Given the description of an element on the screen output the (x, y) to click on. 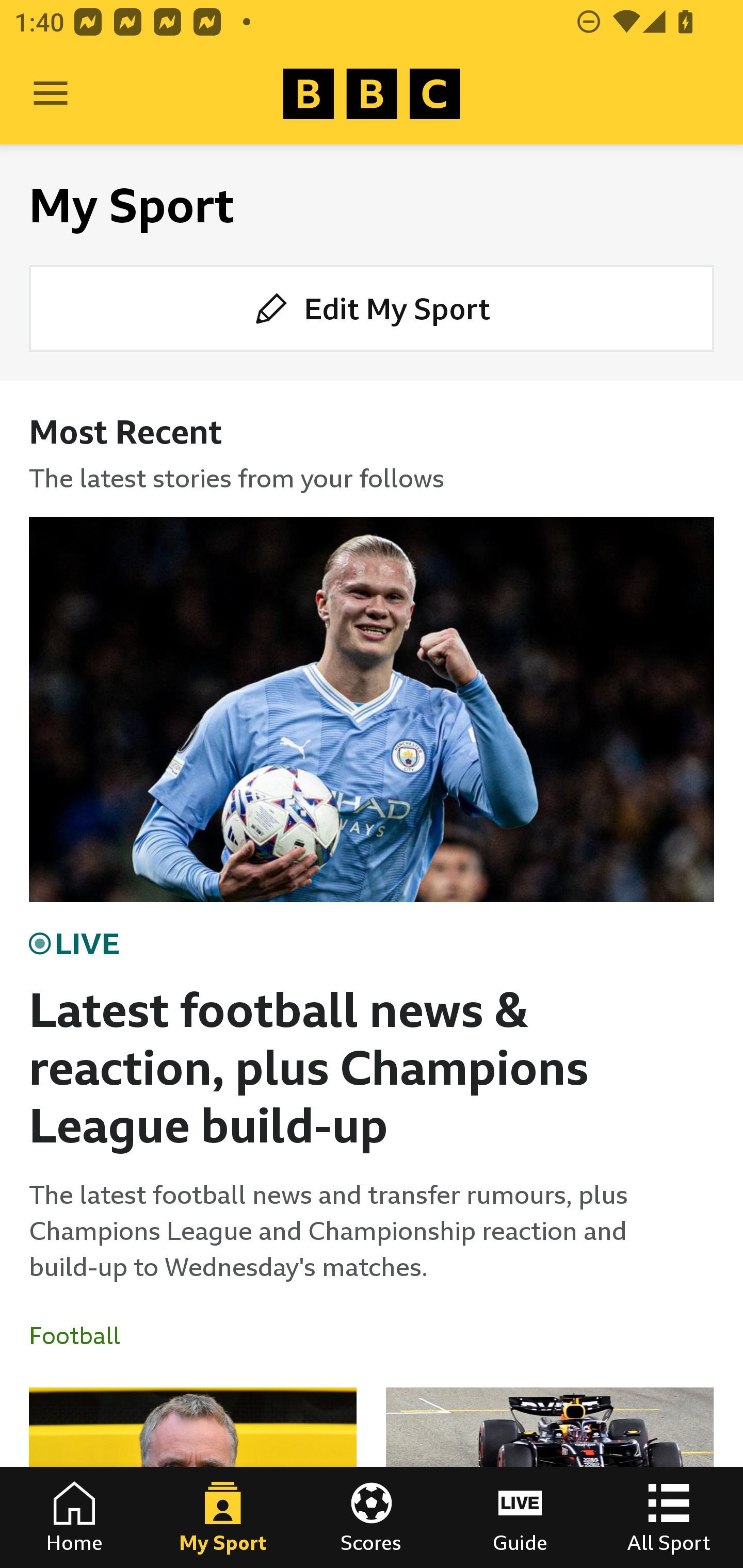
Open Menu (50, 93)
Edit My Sport (371, 307)
Home (74, 1517)
Scores (371, 1517)
Guide (519, 1517)
All Sport (668, 1517)
